Given the description of an element on the screen output the (x, y) to click on. 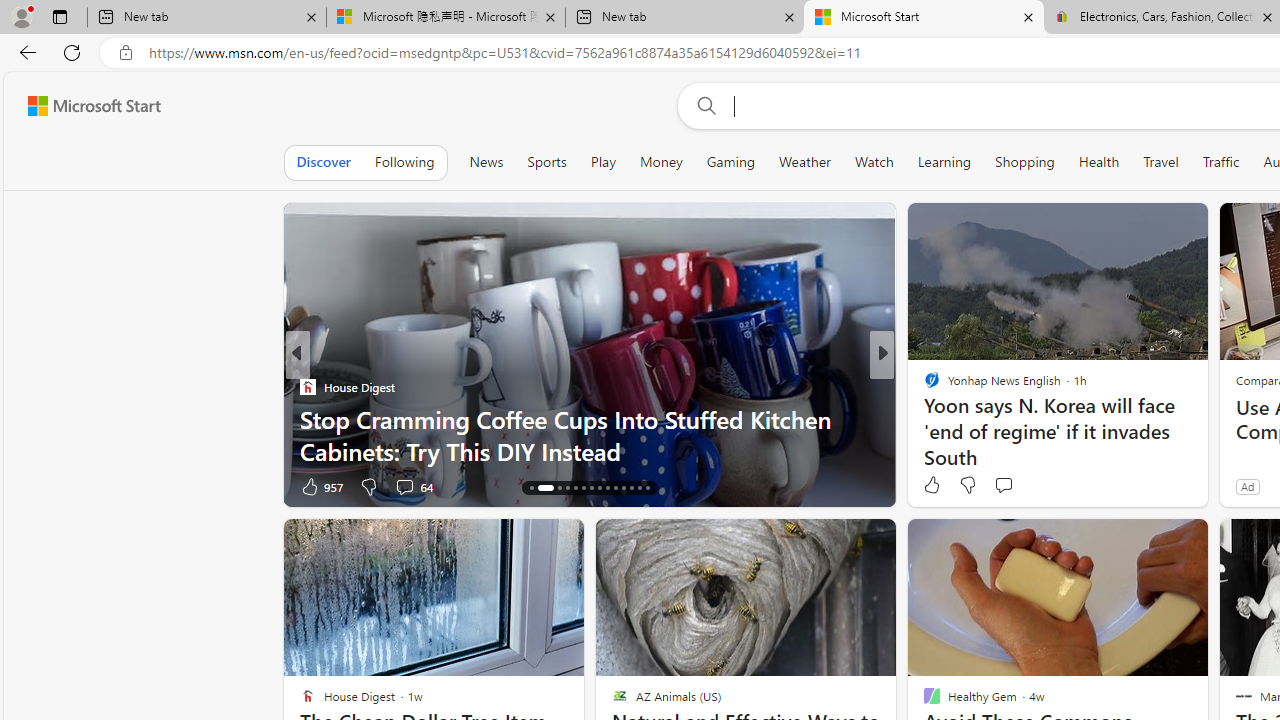
AutomationID: tab-19 (574, 487)
6 Like (930, 486)
261 Like (936, 486)
 UPI News (923, 386)
AutomationID: tab-20 (582, 487)
557 Like (936, 486)
1k Like (933, 486)
19 Like (934, 486)
